Given the description of an element on the screen output the (x, y) to click on. 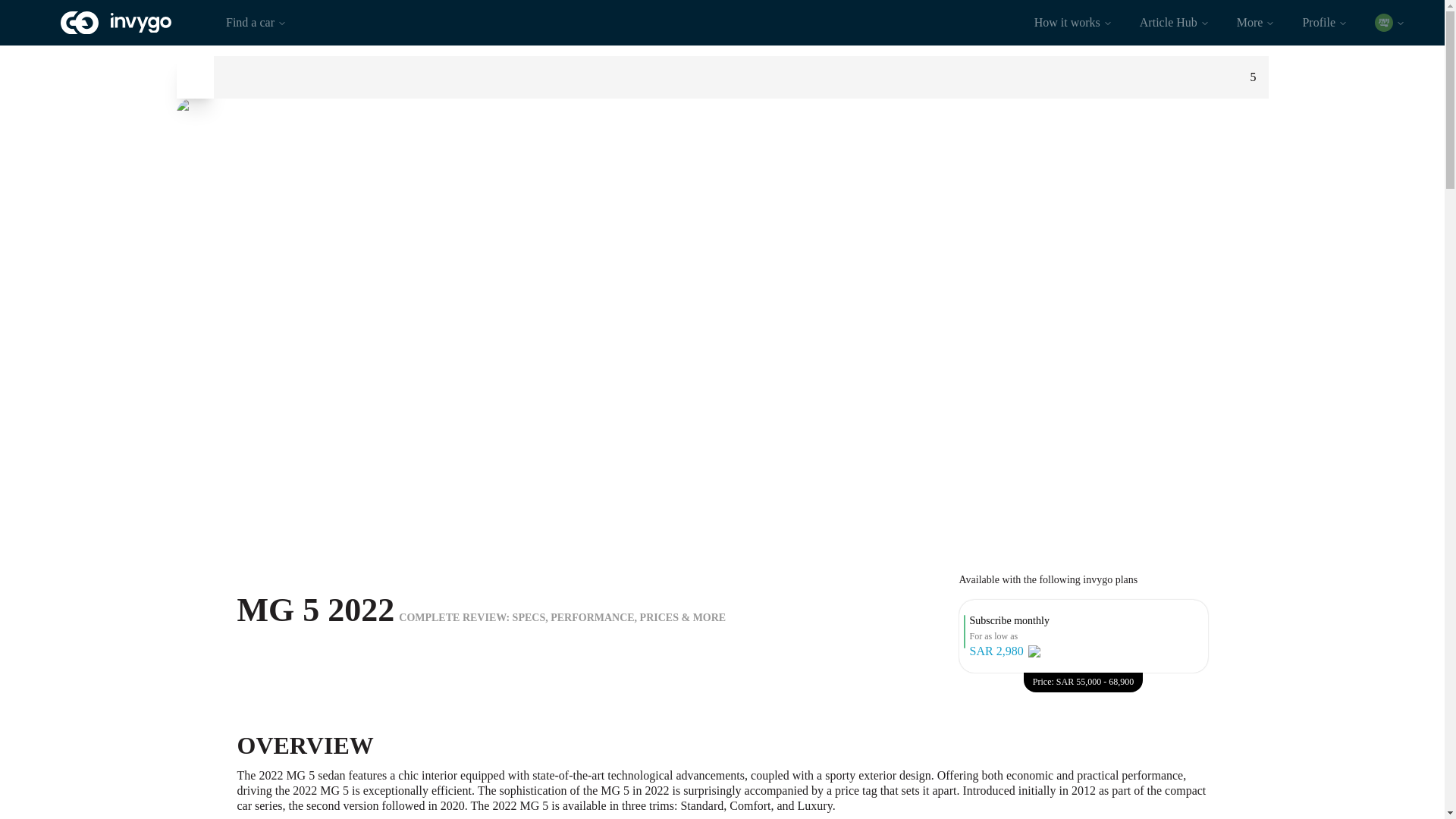
Article Hub (1173, 22)
More (1255, 22)
SAR 2,980 (1008, 651)
How it works (1073, 22)
Profile (1324, 22)
SAR 2,980 (996, 651)
Find a car (256, 22)
